Given the description of an element on the screen output the (x, y) to click on. 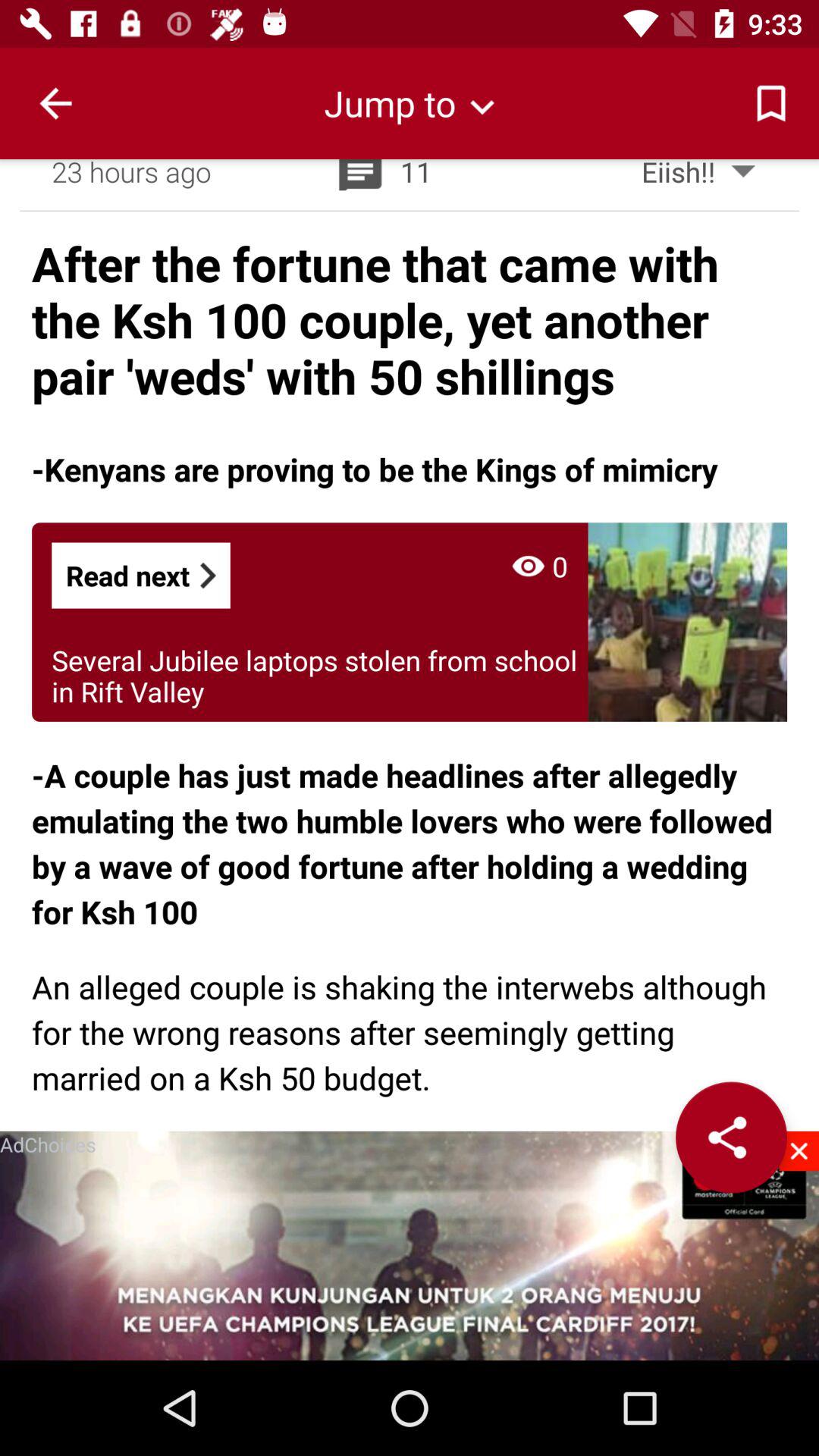
play a video (409, 1245)
